Given the description of an element on the screen output the (x, y) to click on. 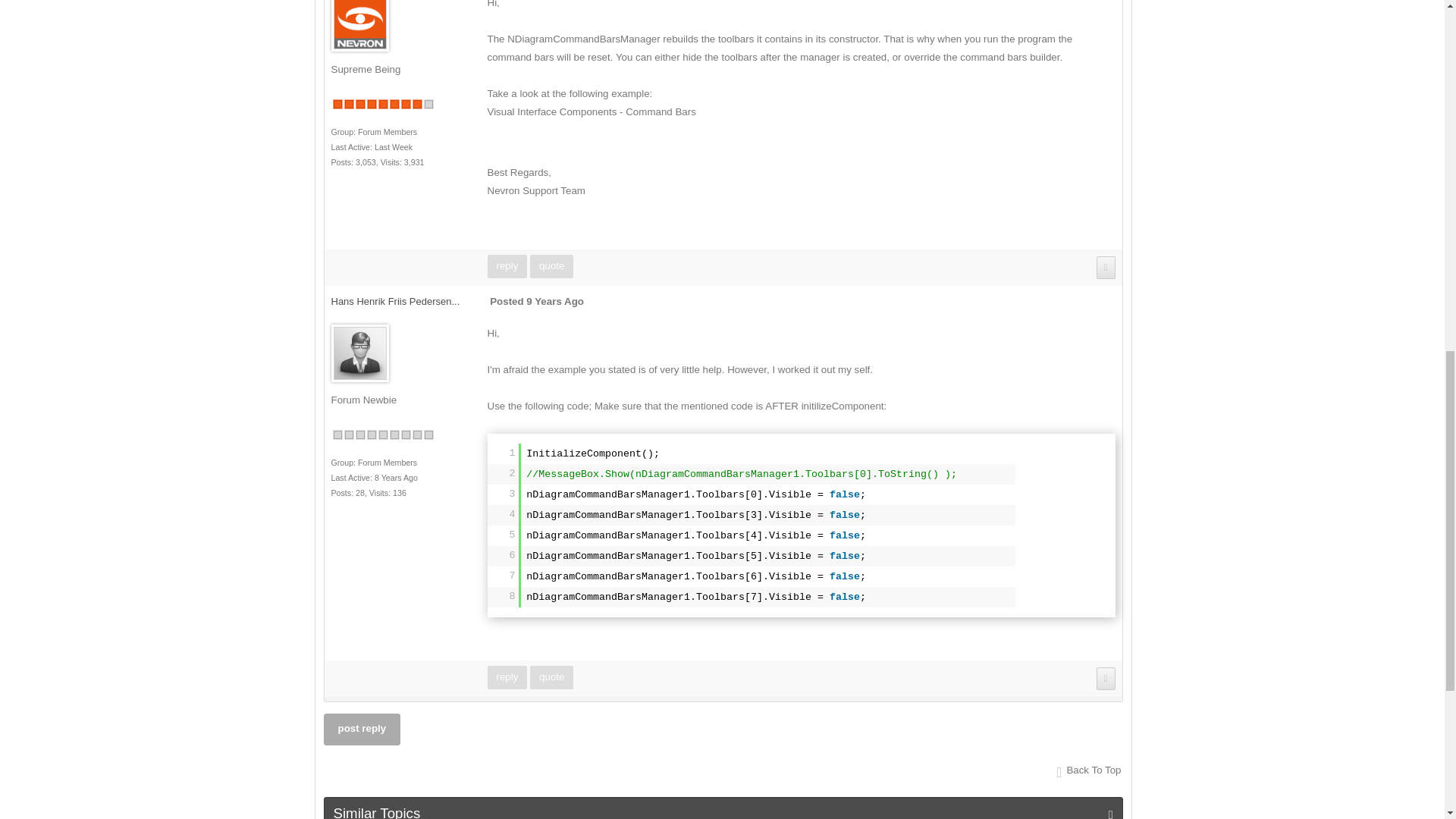
reply (506, 266)
quote (551, 266)
Hans Henrik Friis Pedersen... (395, 301)
